Given the description of an element on the screen output the (x, y) to click on. 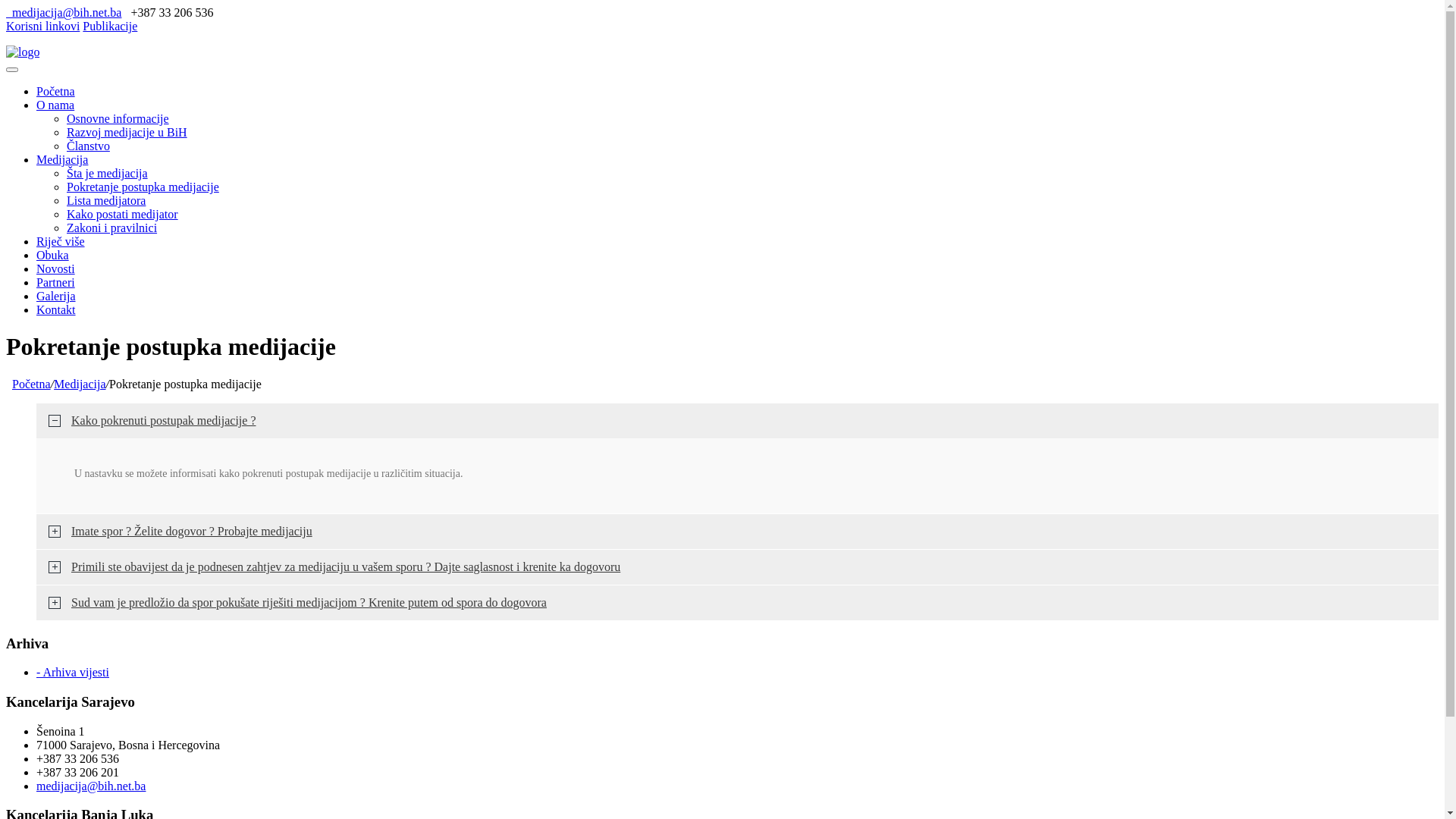
Zakoni i pravilnici Element type: text (111, 227)
Obuka Element type: text (52, 254)
Pokretanje postupka medijacije Element type: text (142, 186)
O nama Element type: text (55, 104)
Partneri Element type: text (55, 282)
  medijacija@bih.net.ba Element type: text (63, 12)
Razvoj medijacije u BiH Element type: text (126, 131)
Medijacija Element type: text (61, 159)
- Arhiva vijesti Element type: text (72, 671)
Kontakt Element type: text (55, 309)
Osnovne informacije Element type: text (117, 118)
Lista medijatora Element type: text (105, 200)
Kako postati medijator Element type: text (122, 213)
Publikacije Element type: text (109, 25)
Korisni linkovi Element type: text (42, 25)
medijacija@bih.net.ba Element type: text (90, 785)
Medijacija Element type: text (79, 383)
Novosti Element type: text (55, 268)
Kako pokrenuti postupak medijacije ?
Open or Close Element type: text (737, 420)
Galerija Element type: text (55, 295)
